Given the description of an element on the screen output the (x, y) to click on. 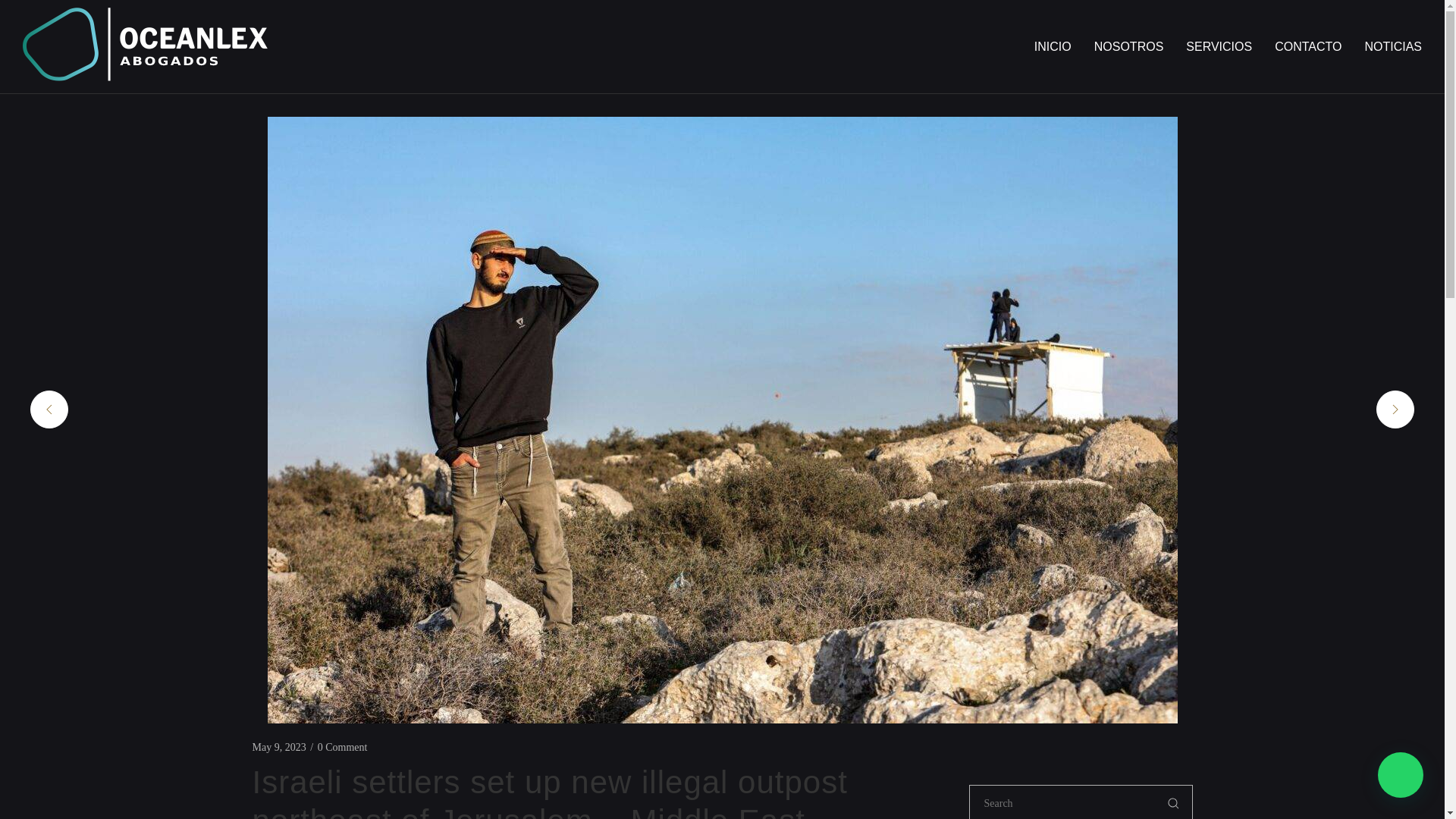
 Search (1173, 801)
INICIO (1052, 46)
CONTACTO (1307, 46)
SERVICIOS (1219, 46)
NOSOTROS (1128, 46)
NOTICIAS (1393, 46)
0 Comment (342, 747)
search (1061, 801)
May 9, 2023 (278, 747)
